Given the description of an element on the screen output the (x, y) to click on. 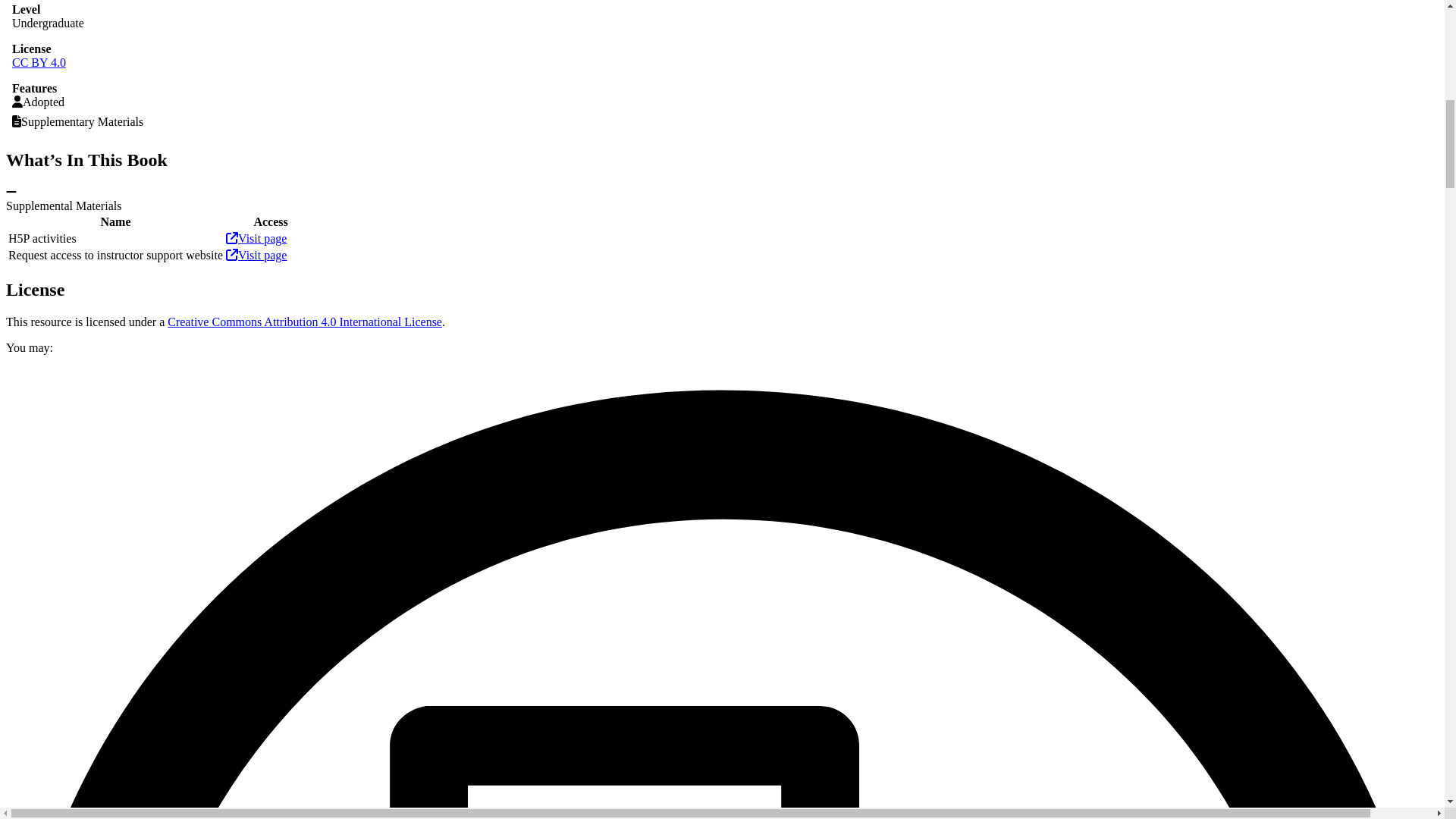
Creative Commons Attribution 4.0 International License (304, 321)
Visit page (255, 237)
Visit page (255, 254)
CC BY 4.0 (38, 62)
